Given the description of an element on the screen output the (x, y) to click on. 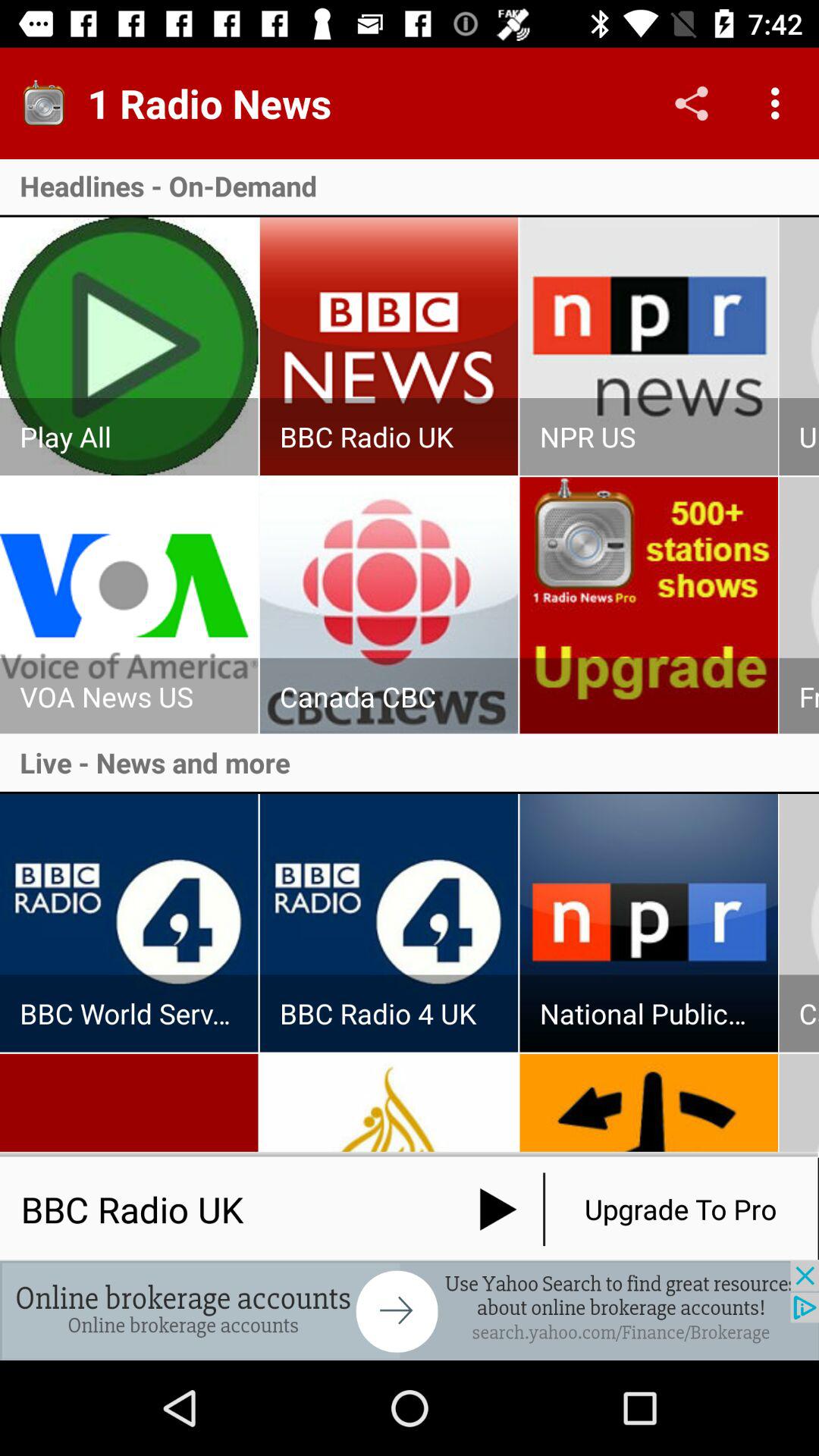
open advertisement (409, 1310)
